Given the description of an element on the screen output the (x, y) to click on. 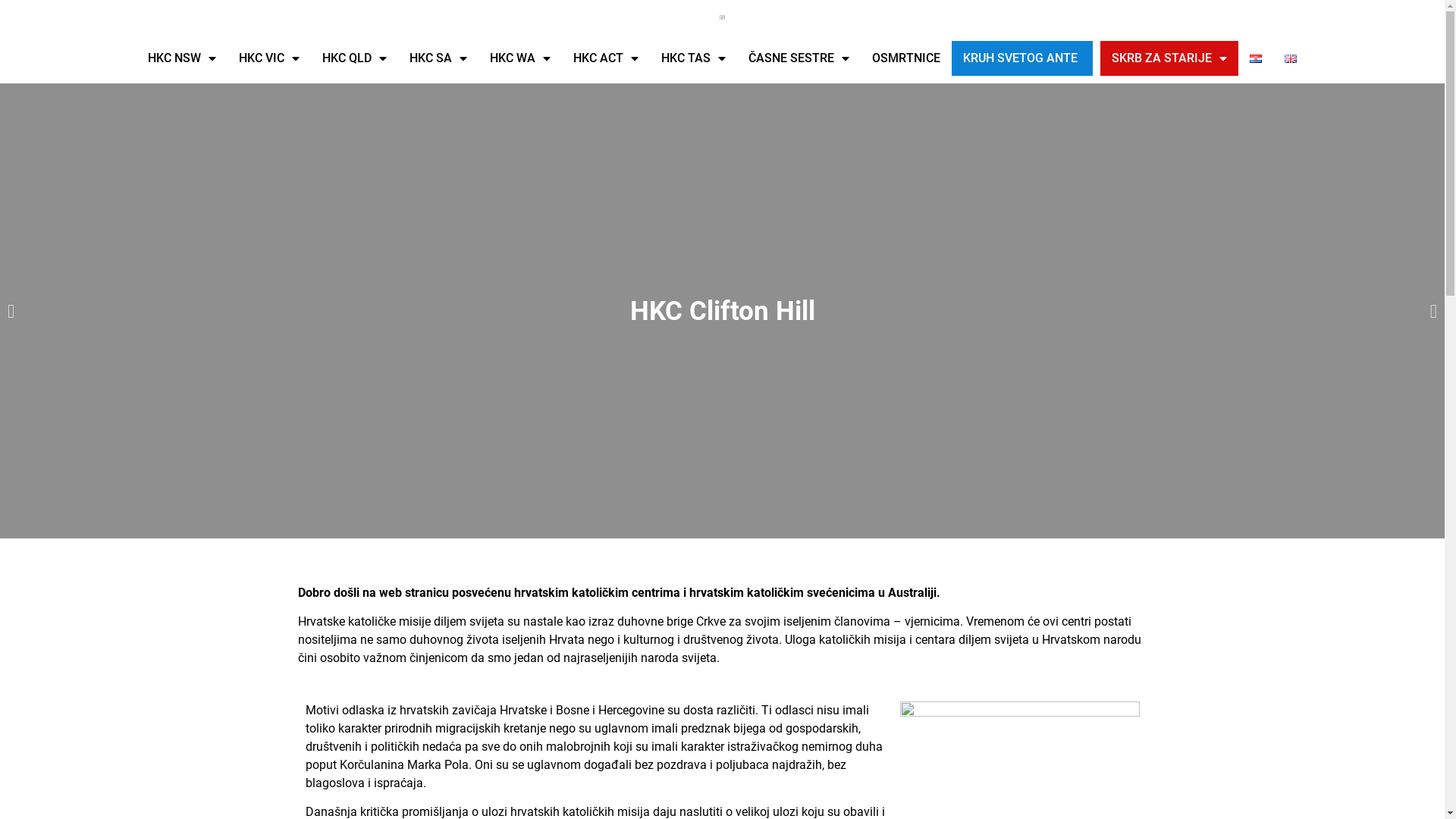
SKRB ZA STARIJE Element type: text (1169, 57)
HKC TAS Element type: text (693, 57)
HKC WA Element type: text (520, 57)
HKC QLD Element type: text (354, 57)
HKC SA Element type: text (437, 57)
HKC VIC Element type: text (269, 57)
OSMRTNICE Element type: text (905, 57)
KRUH SVETOG ANTE Element type: text (1020, 57)
HKC NSW Element type: text (181, 57)
HKC Clifton Hill Element type: text (722, 310)
HKC ACT Element type: text (605, 57)
